Given the description of an element on the screen output the (x, y) to click on. 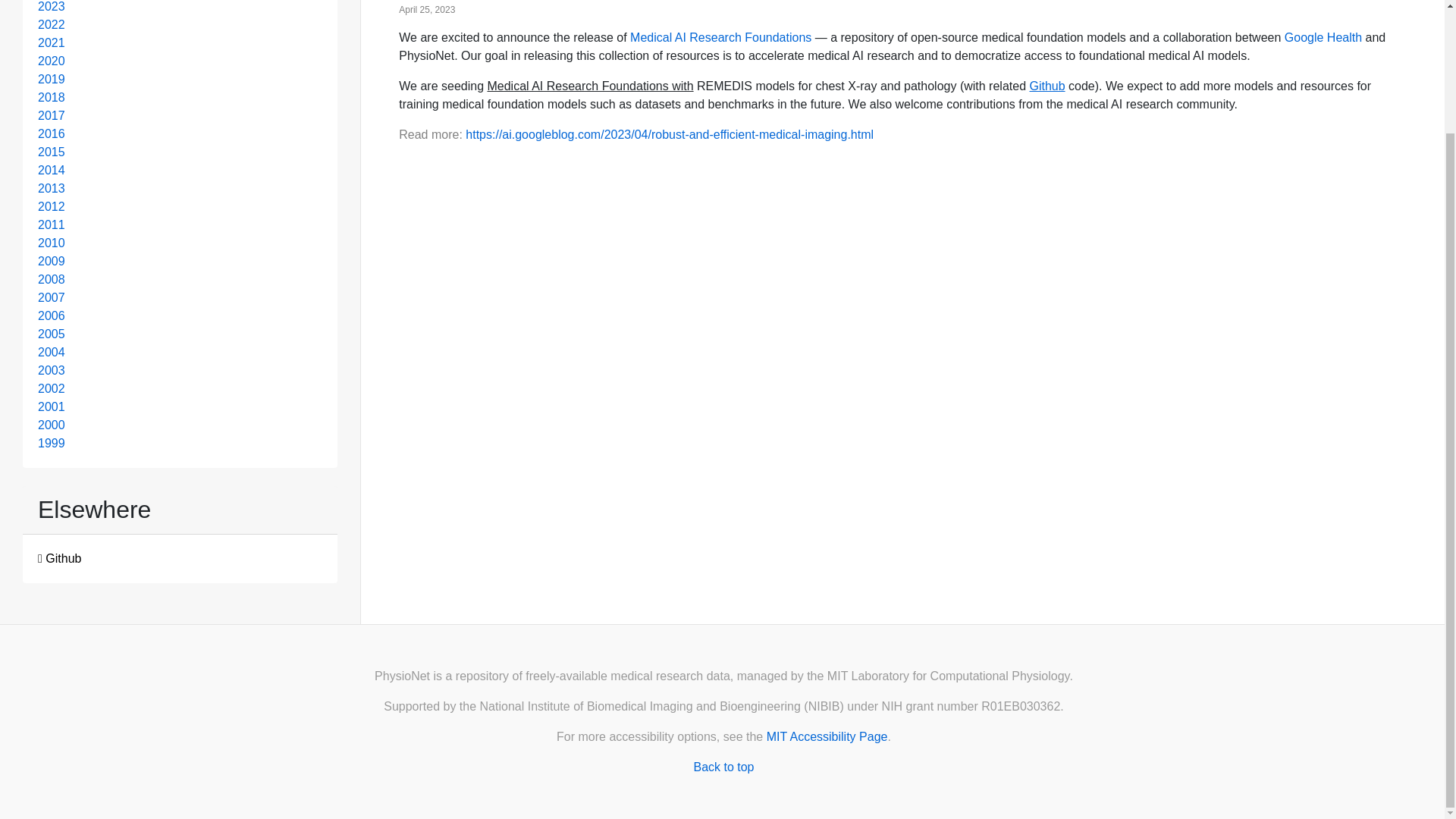
2022 (51, 24)
2012 (51, 205)
2010 (51, 242)
Medical AI Research Foundations (720, 37)
2000 (51, 424)
2023 (51, 6)
2014 (51, 169)
2007 (51, 297)
2018 (51, 97)
2008 (51, 278)
